Given the description of an element on the screen output the (x, y) to click on. 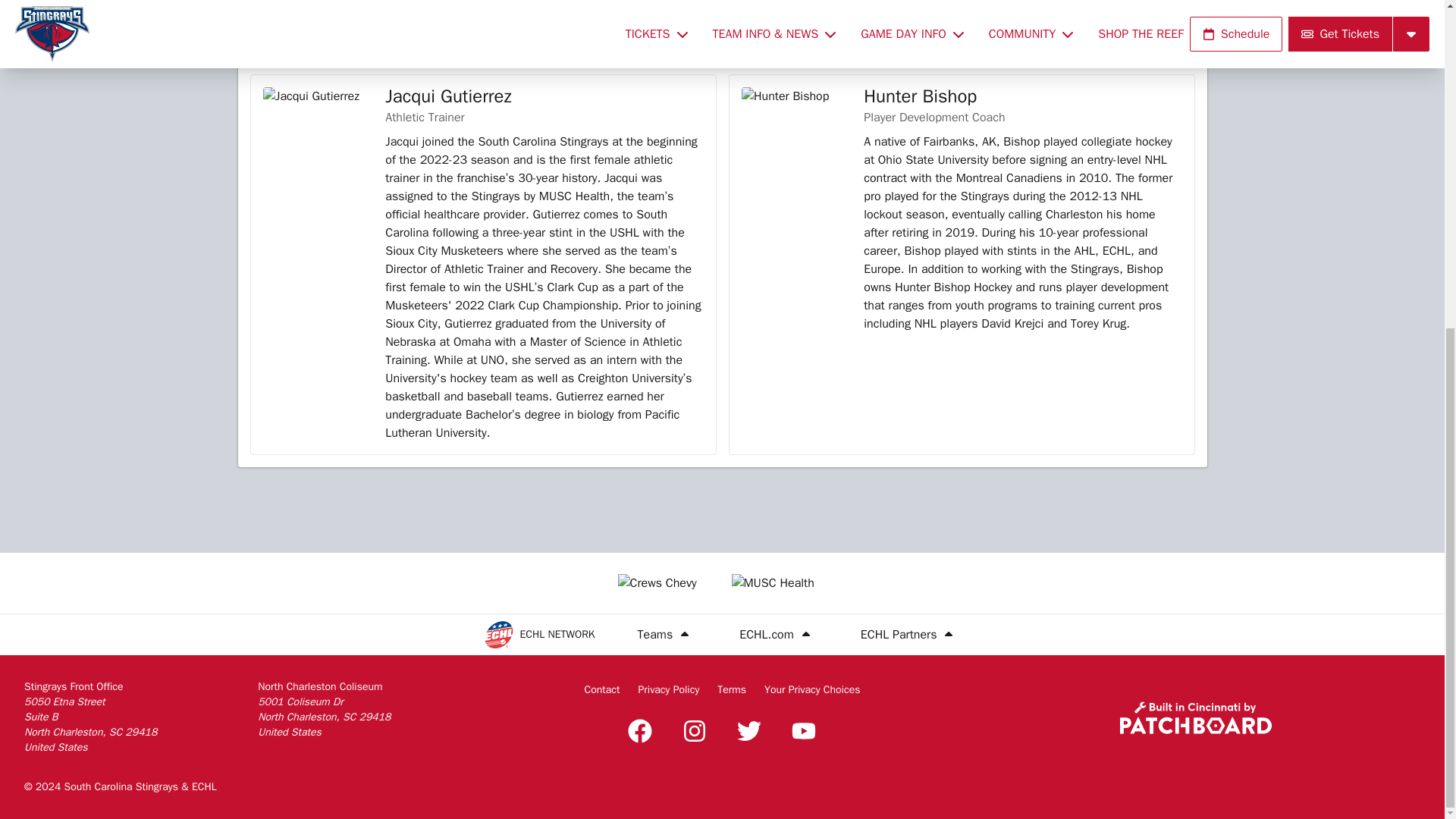
Instagram (694, 731)
Built in Cincinnati by Patchboard (1195, 717)
YouTube (804, 731)
Facebook (639, 731)
Twitter (749, 731)
